Given the description of an element on the screen output the (x, y) to click on. 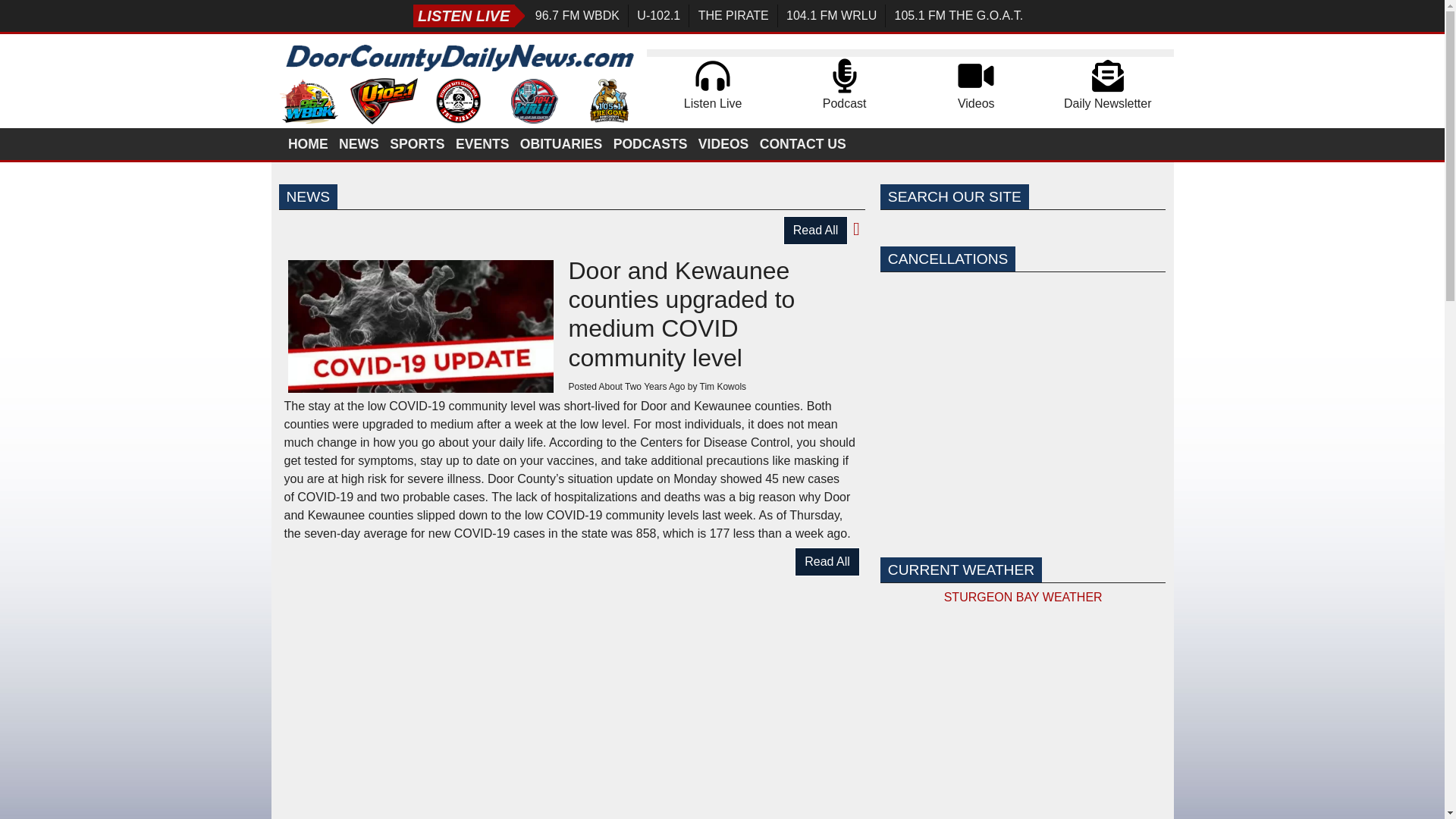
NEWS (359, 143)
Read All (815, 230)
104.1 FM WRLU (831, 15)
PODCASTS (650, 143)
SPORTS (418, 143)
EVENTS (483, 143)
HOME (308, 143)
THE PIRATE (732, 15)
96.7 FM WBDK (577, 15)
105.1 FM THE G.O.A.T. (958, 15)
